Given the description of an element on the screen output the (x, y) to click on. 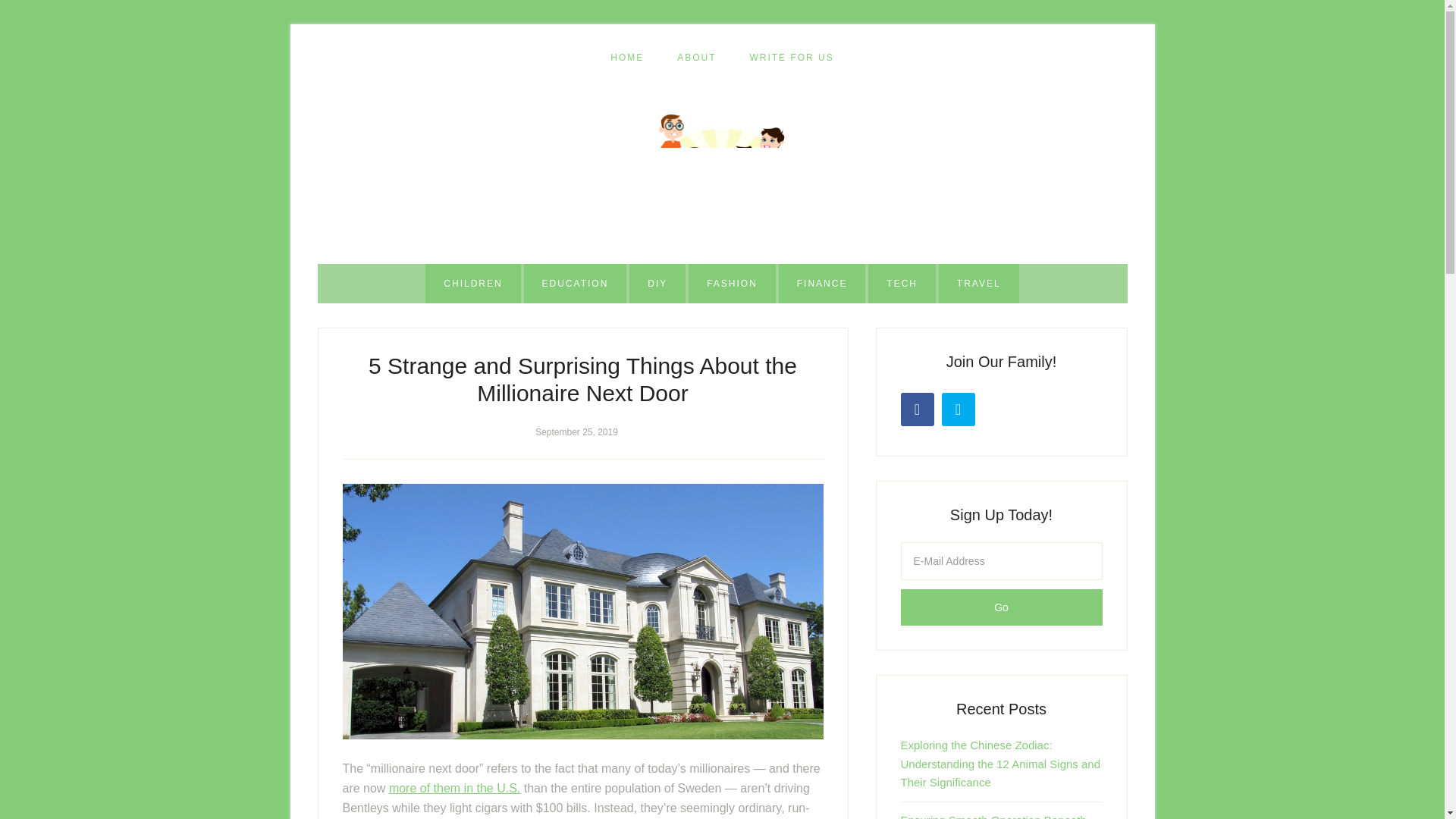
Go (1001, 606)
Go (1001, 606)
CHILDREN (472, 283)
FINANCE (822, 283)
WRITE FOR US (790, 57)
DIY (656, 283)
EDUCATION (575, 283)
ABOUT (696, 57)
TRAVEL (979, 283)
